Given the description of an element on the screen output the (x, y) to click on. 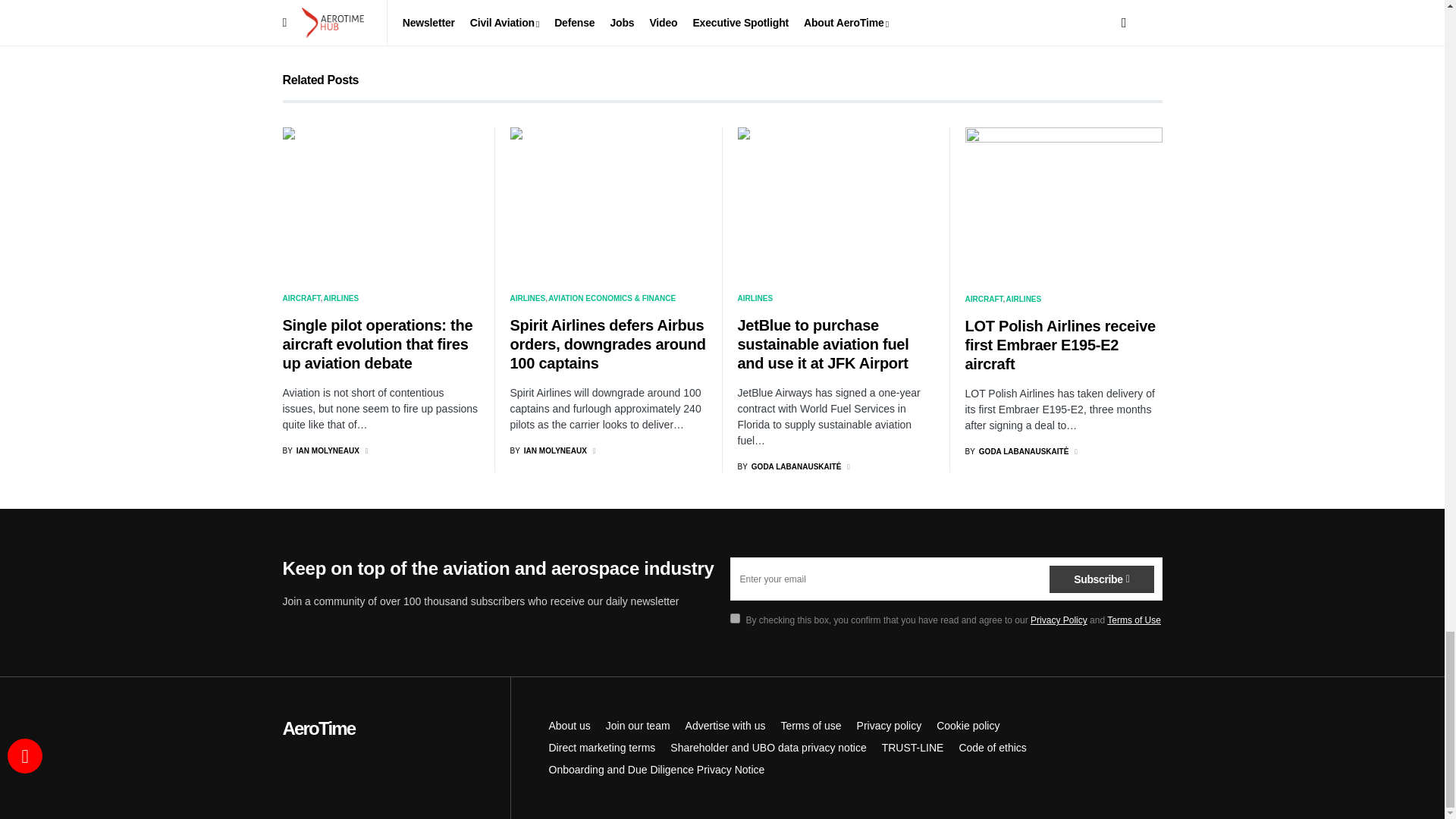
on (734, 618)
View all posts by Ian Molyneaux (320, 450)
View all posts by Ian Molyneaux (547, 450)
